Given the description of an element on the screen output the (x, y) to click on. 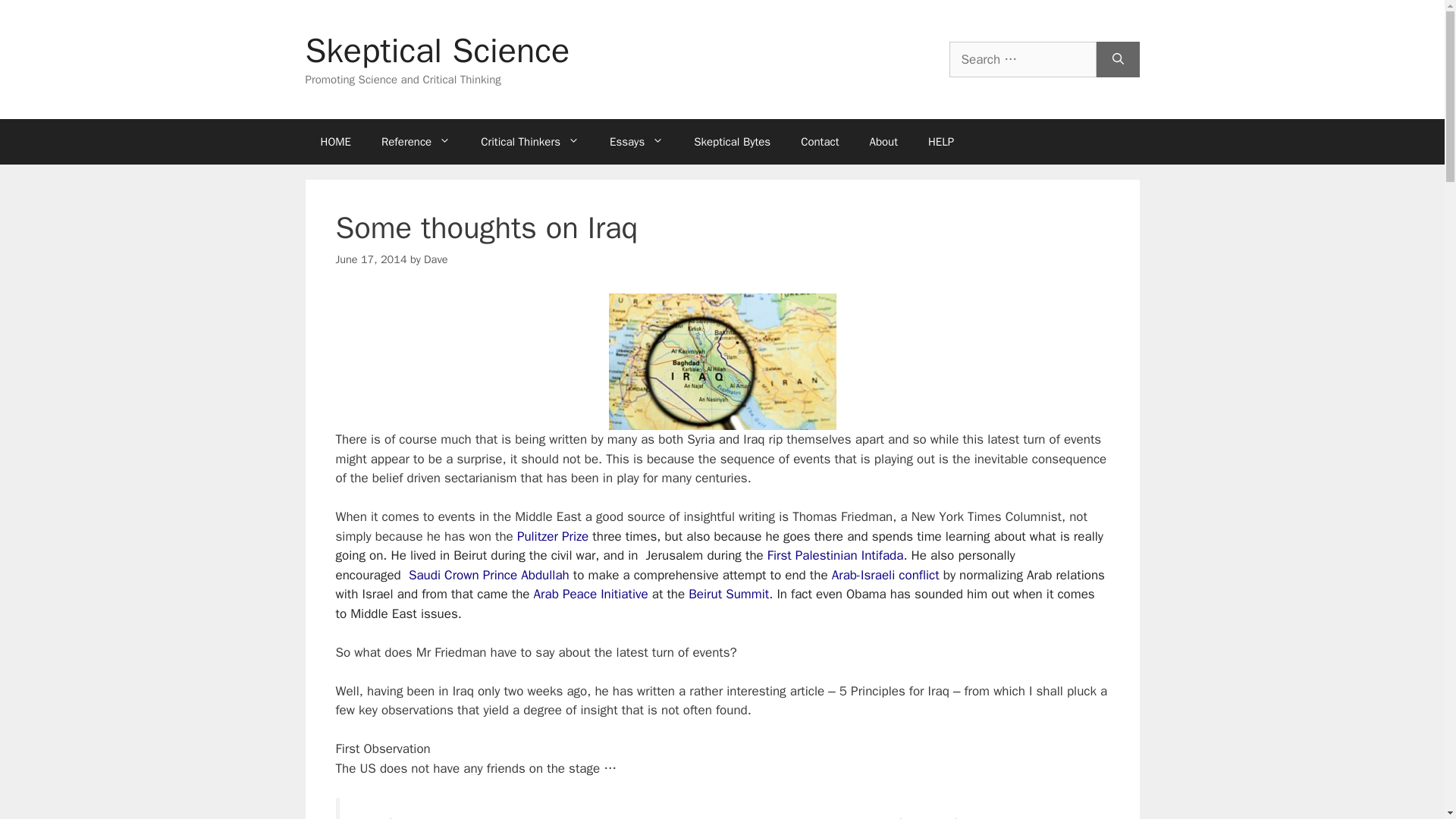
Skeptical Bytes (732, 140)
HOME (334, 140)
About (882, 140)
Reference (415, 140)
Arab-Israeli conflict (885, 575)
HELP (940, 140)
First Intifada (835, 555)
First Palestinian Intifada (835, 555)
Beirut Summit (728, 593)
Arab Peace Initiative (590, 593)
